Given the description of an element on the screen output the (x, y) to click on. 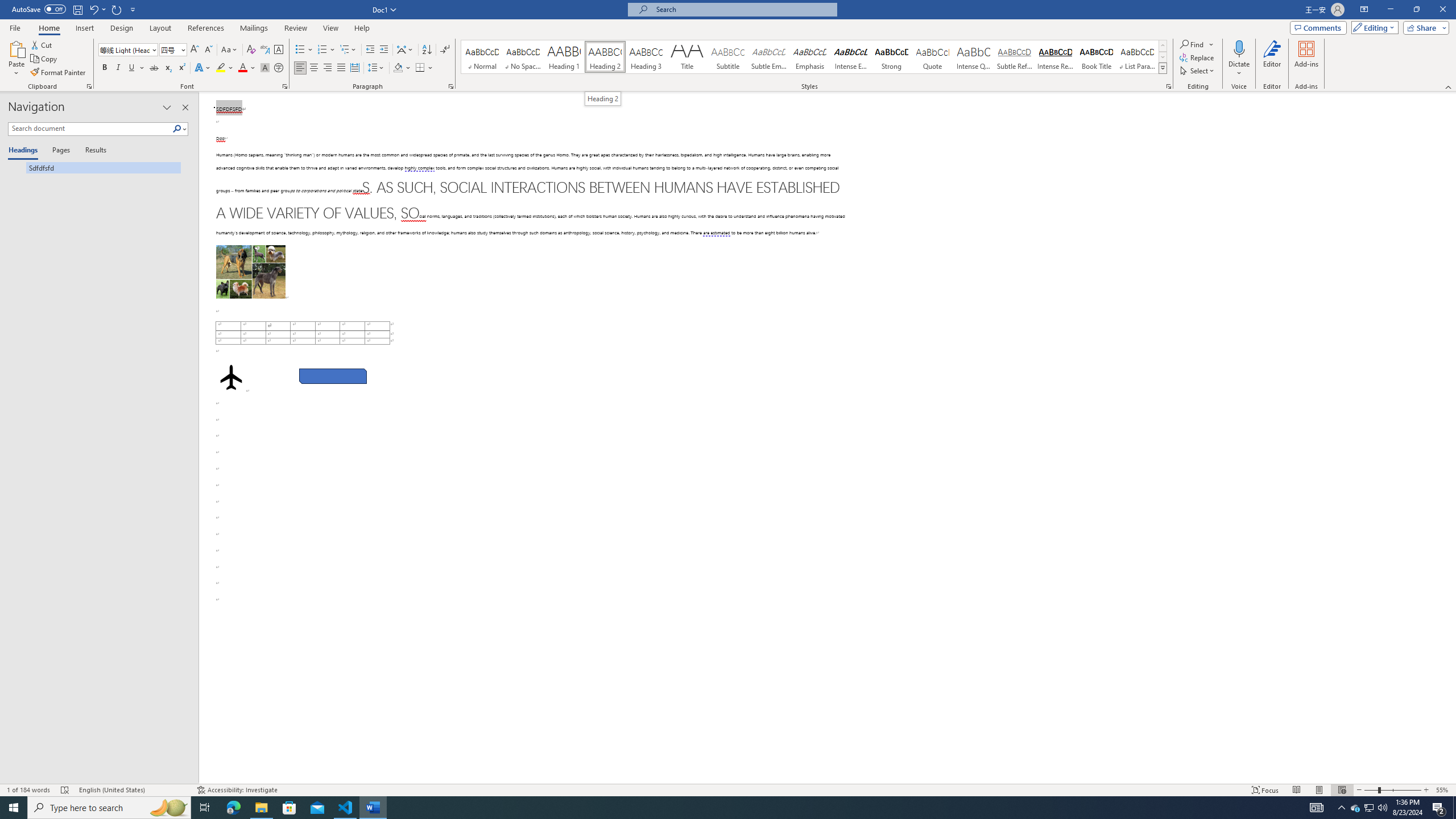
Styles... (1168, 85)
Subtle Reference (1014, 56)
Undo Apply Quick Style (92, 9)
Character Shading (264, 67)
Undo Apply Quick Style (96, 9)
Zoom 55% (1443, 790)
Line and Paragraph Spacing (376, 67)
